Given the description of an element on the screen output the (x, y) to click on. 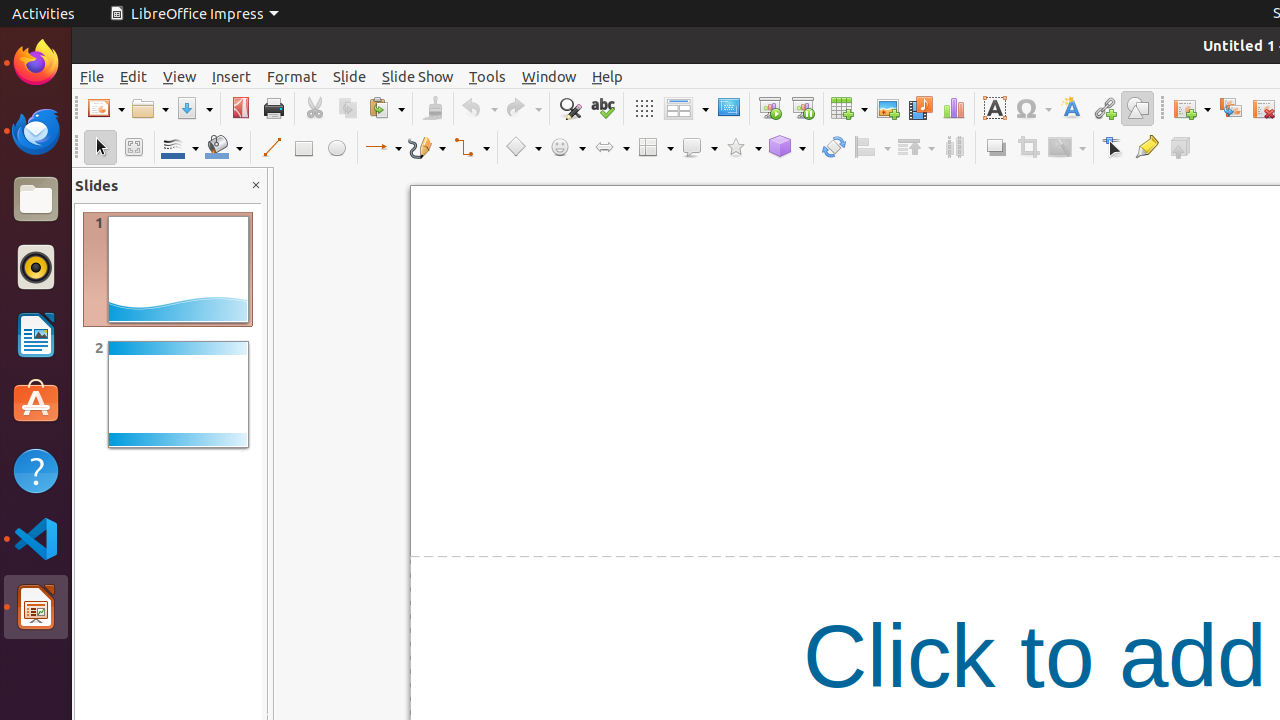
Ubuntu Software Element type: push-button (36, 402)
Insert Element type: menu (231, 76)
Close Pane Element type: push-button (255, 185)
Print Element type: push-button (273, 108)
PDF Element type: push-button (240, 108)
